Given the description of an element on the screen output the (x, y) to click on. 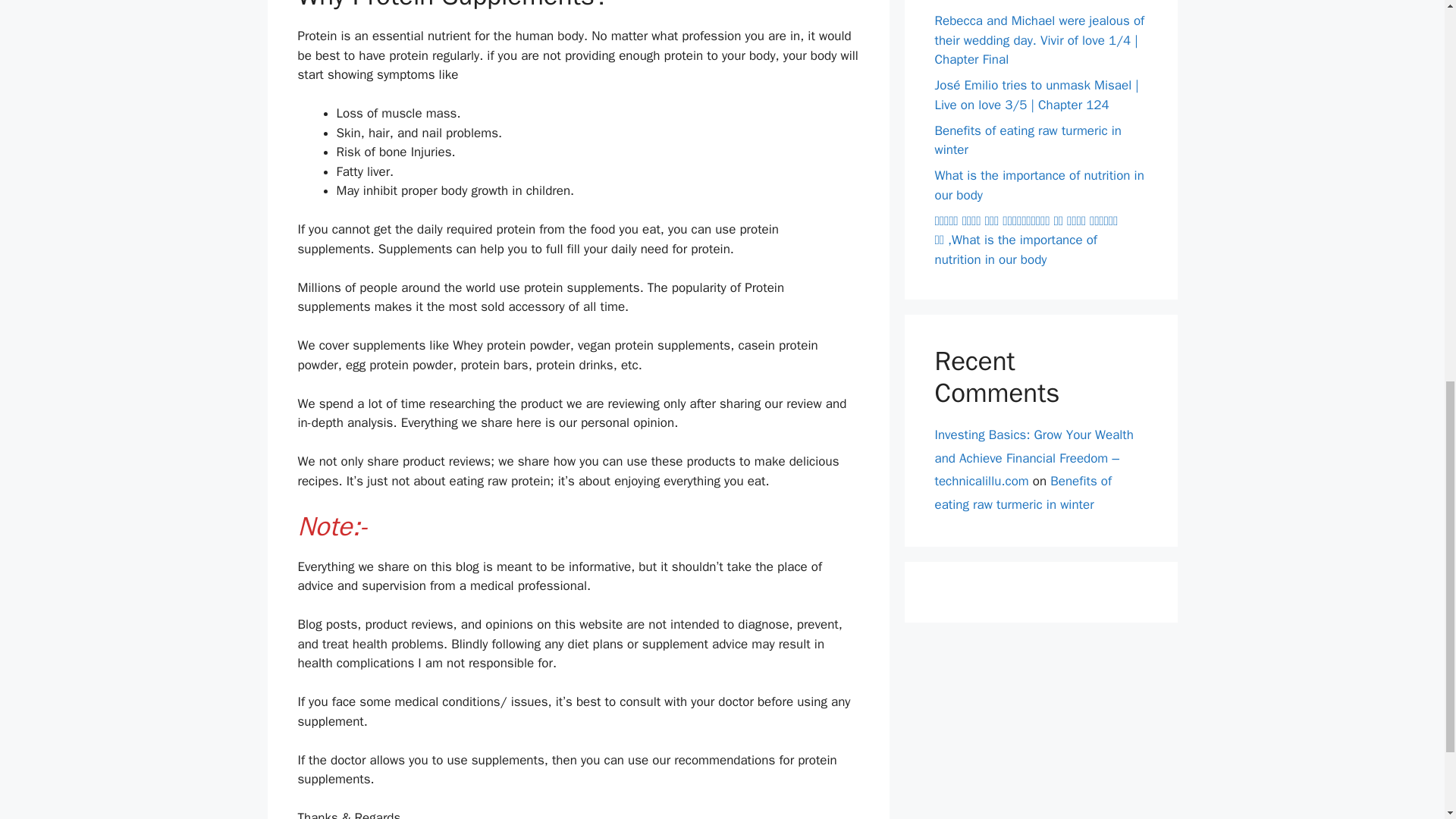
What is the importance of nutrition in our body (1038, 185)
Benefits of eating raw turmeric in winter (1027, 140)
Benefits of eating raw turmeric in winter (1023, 492)
